Given the description of an element on the screen output the (x, y) to click on. 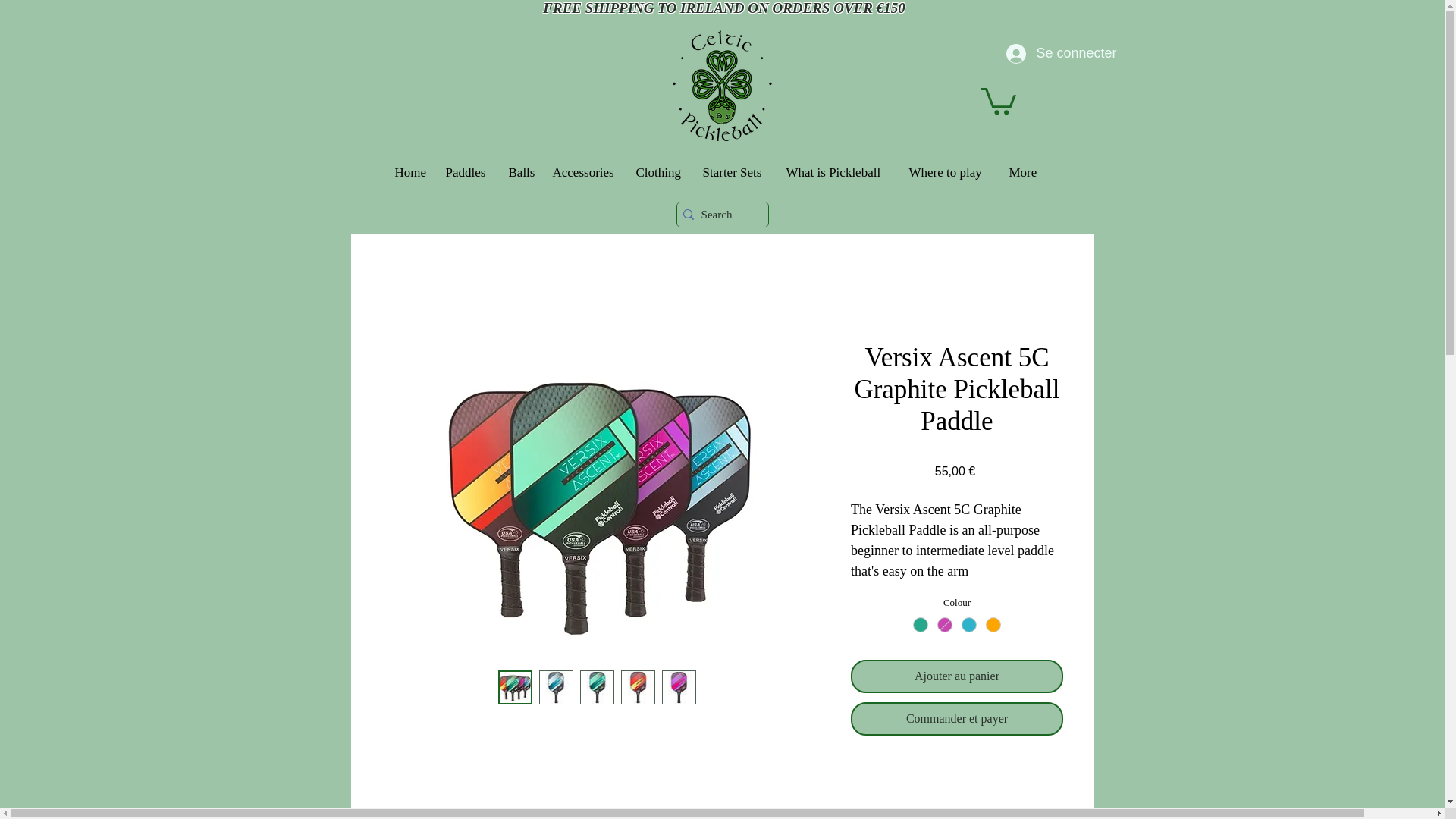
What is Pickleball (839, 173)
Home (412, 173)
Balls (522, 173)
Se connecter (1040, 53)
Starter Sets (735, 173)
Ajouter au panier (956, 676)
Celtic Pickleball Logo (721, 85)
Where to play (951, 173)
Clothing (660, 173)
Commander et payer (956, 718)
